Given the description of an element on the screen output the (x, y) to click on. 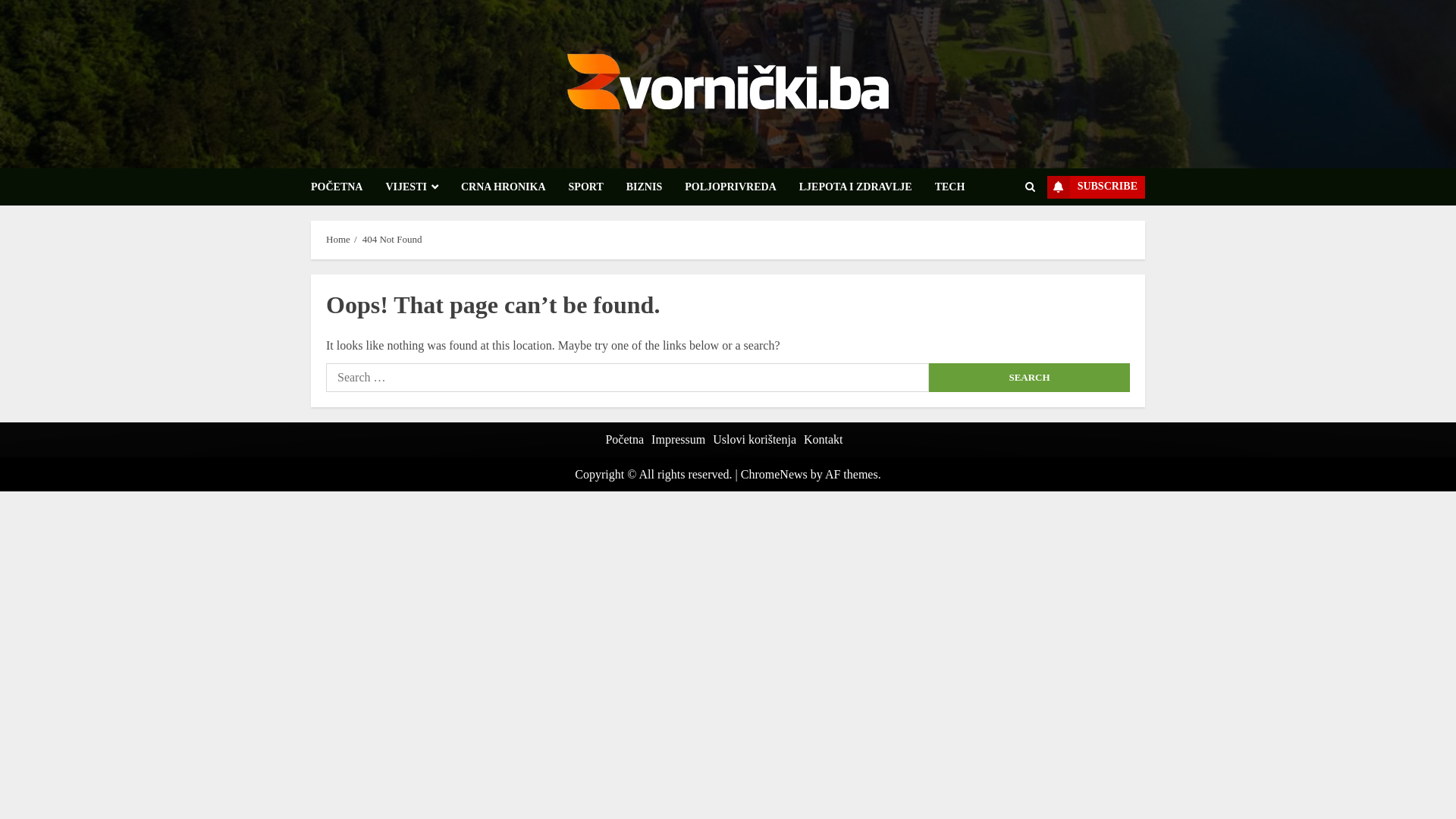
BIZNIS Element type: text (655, 186)
SUBSCRIBE Element type: text (1096, 186)
POLJOPRIVREDA Element type: text (741, 186)
Kontakt Element type: text (823, 439)
SPORT Element type: text (597, 186)
LJEPOTA I ZDRAVLJE Element type: text (867, 186)
404 Not Found Element type: text (392, 239)
TECH Element type: text (950, 186)
Impressum Element type: text (678, 439)
Home Element type: text (338, 239)
Search Element type: hover (1029, 186)
CRNA HRONIKA Element type: text (514, 186)
Search Element type: text (1000, 233)
VIJESTI Element type: text (422, 186)
ChromeNews Element type: text (773, 473)
Search Element type: text (1028, 377)
